Given the description of an element on the screen output the (x, y) to click on. 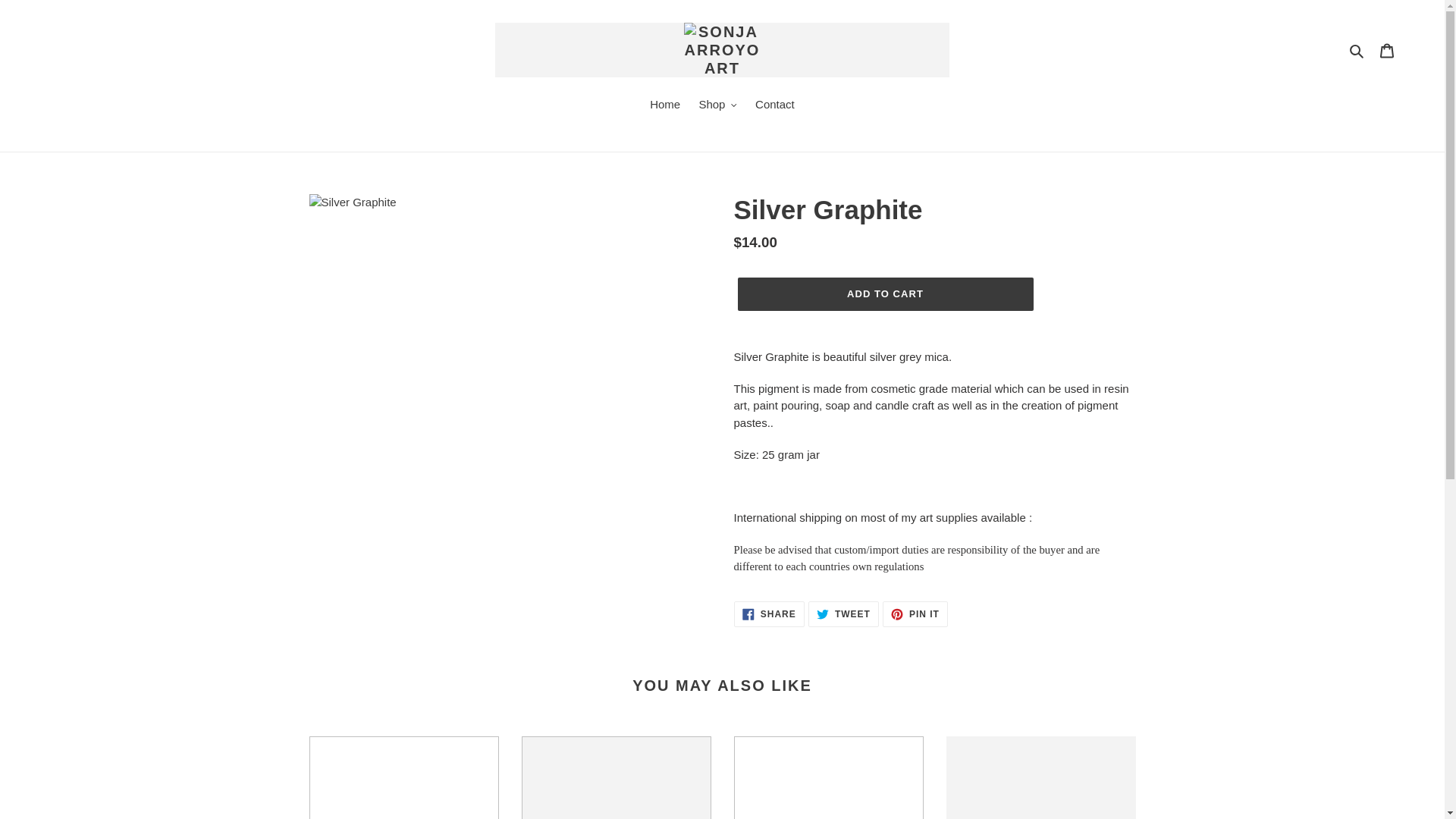
Shop (769, 614)
ADD TO CART (717, 106)
Cart (884, 294)
Contact (843, 614)
Search (914, 614)
Home (1387, 50)
Supreme Metallic Pigment Bundle - Set of 6 (775, 106)
